Given the description of an element on the screen output the (x, y) to click on. 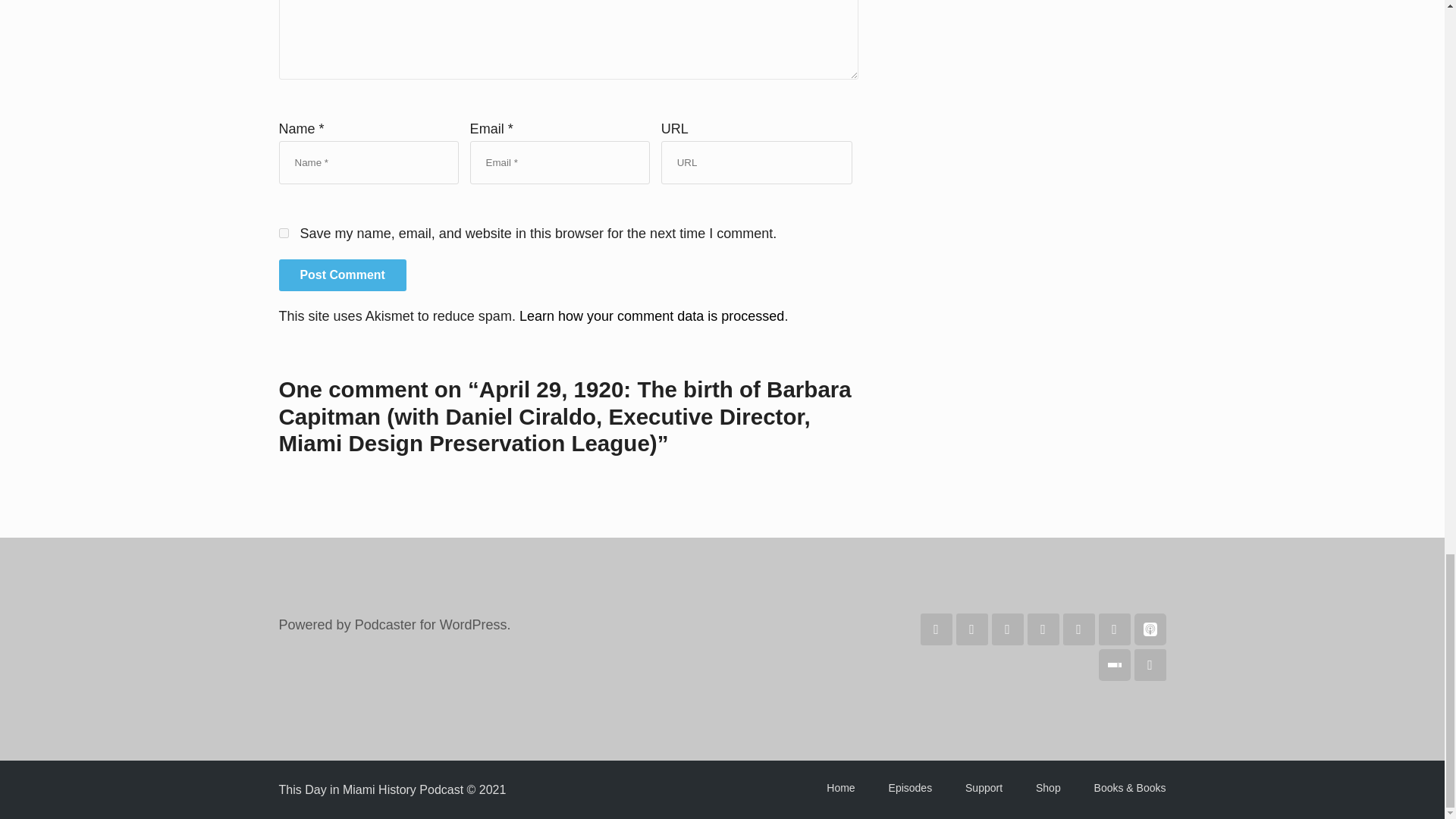
yes (283, 233)
Post Comment (342, 275)
